Given the description of an element on the screen output the (x, y) to click on. 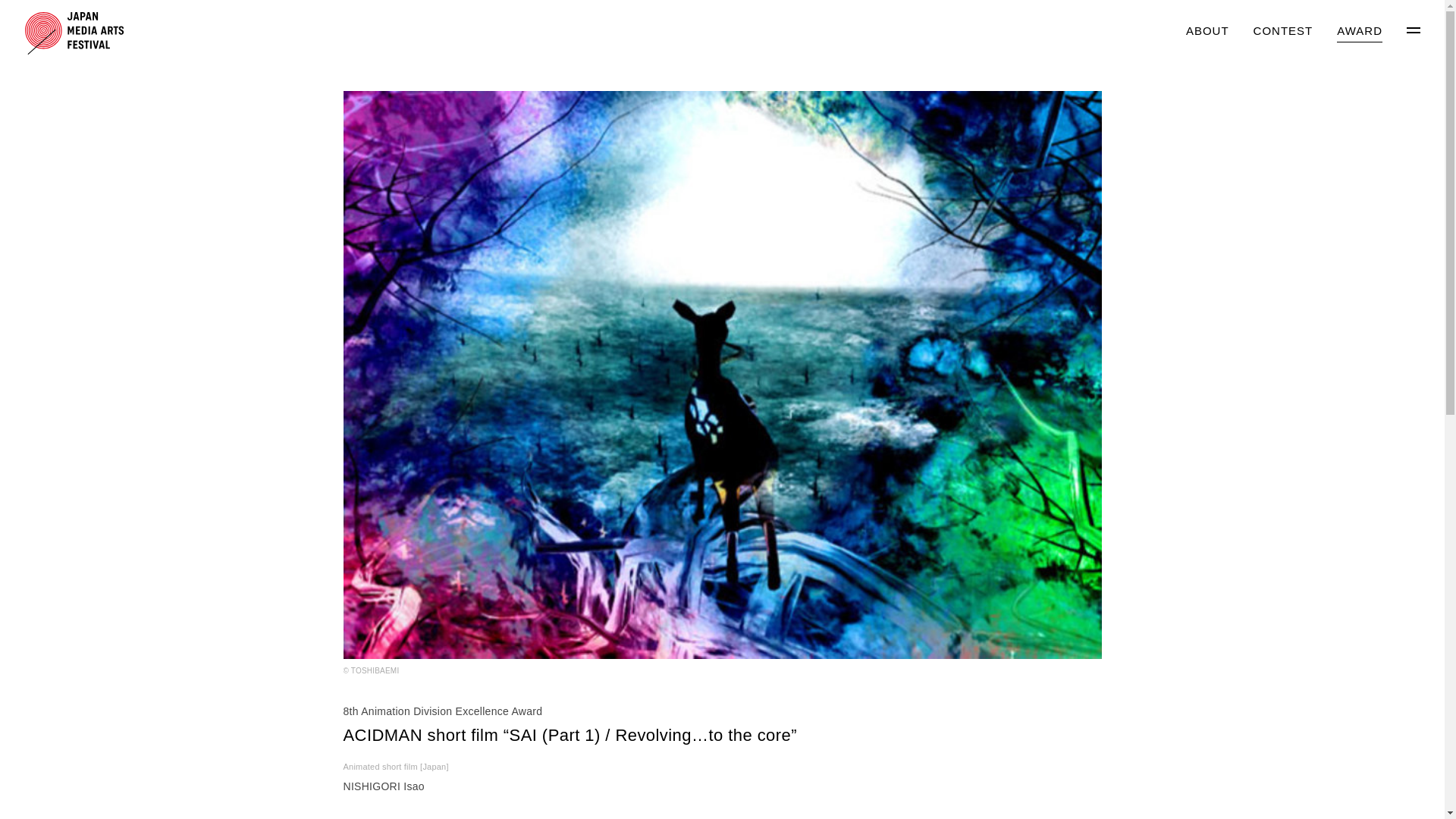
ABOUT (1207, 32)
CONTEST (1283, 32)
AWARD (1358, 32)
